Given the description of an element on the screen output the (x, y) to click on. 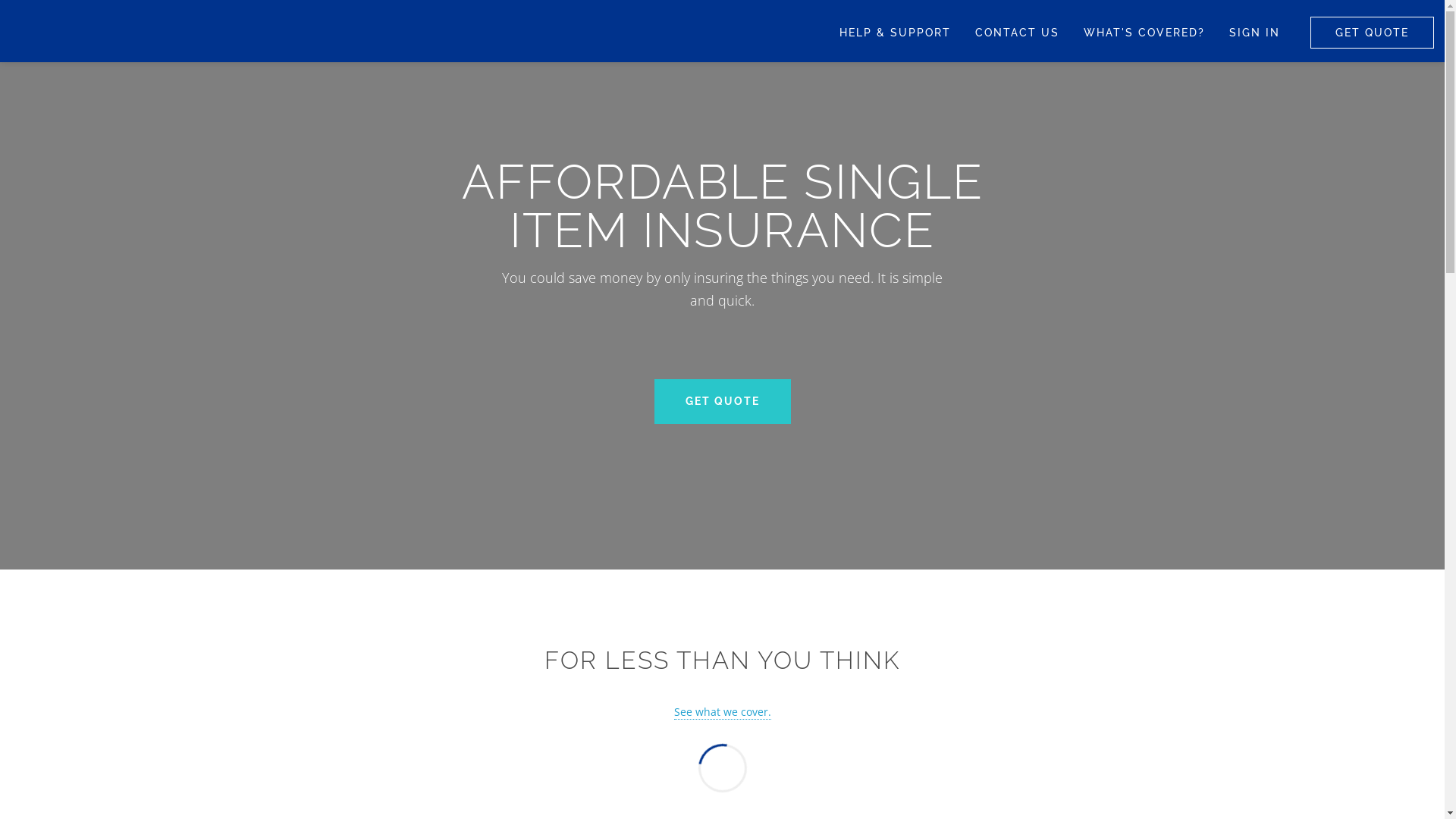
SIGN IN Element type: text (1254, 32)
GET QUOTE Element type: text (721, 401)
HELP & SUPPORT Element type: text (895, 32)
WHAT'S COVERED? Element type: text (1144, 32)
CONTACT US Element type: text (1017, 32)
See what we cover. Element type: text (721, 711)
GET QUOTE Element type: text (1372, 32)
